Given the description of an element on the screen output the (x, y) to click on. 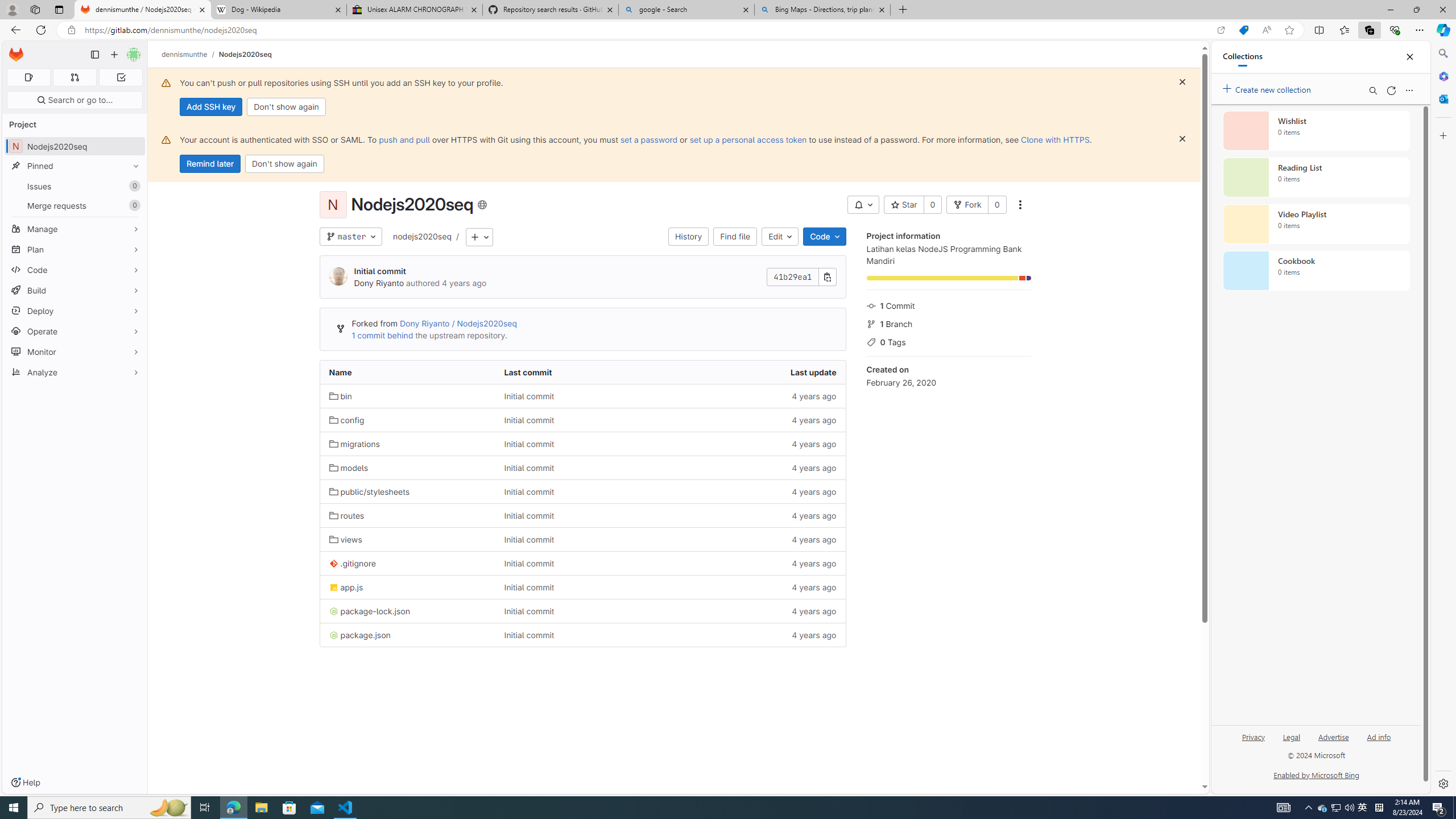
Primary navigation sidebar (94, 54)
Privacy (1252, 741)
set a password (649, 139)
.gitignore (352, 563)
Dony Riyanto's avatar (338, 276)
1 Branch (948, 322)
1 commit behind (381, 335)
More actions (1019, 204)
To-Do list 0 (120, 76)
views (407, 539)
Cookbook collection, 0 items (1316, 270)
Back (13, 29)
1 Commit (948, 304)
Workspaces (34, 9)
package.json (407, 634)
